Given the description of an element on the screen output the (x, y) to click on. 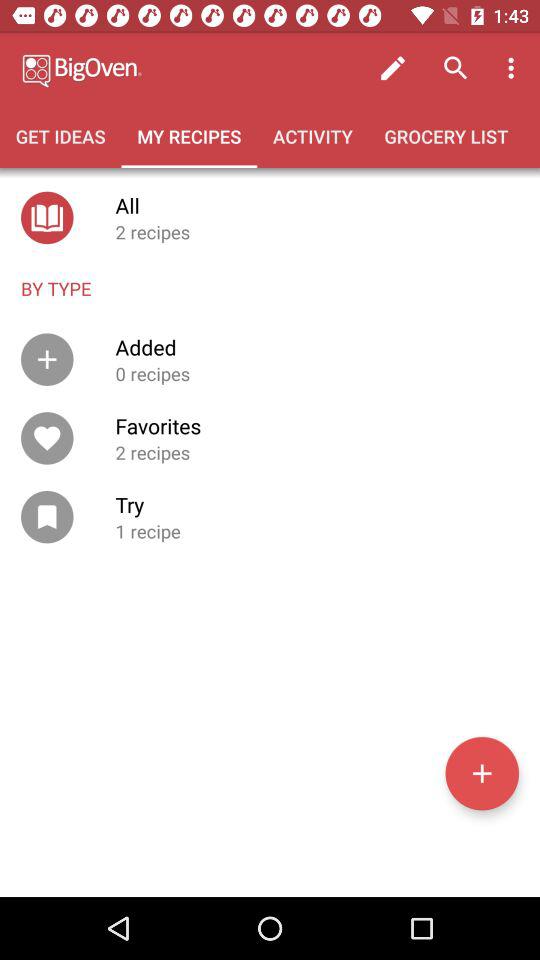
launch icon above grocery list icon (392, 67)
